Given the description of an element on the screen output the (x, y) to click on. 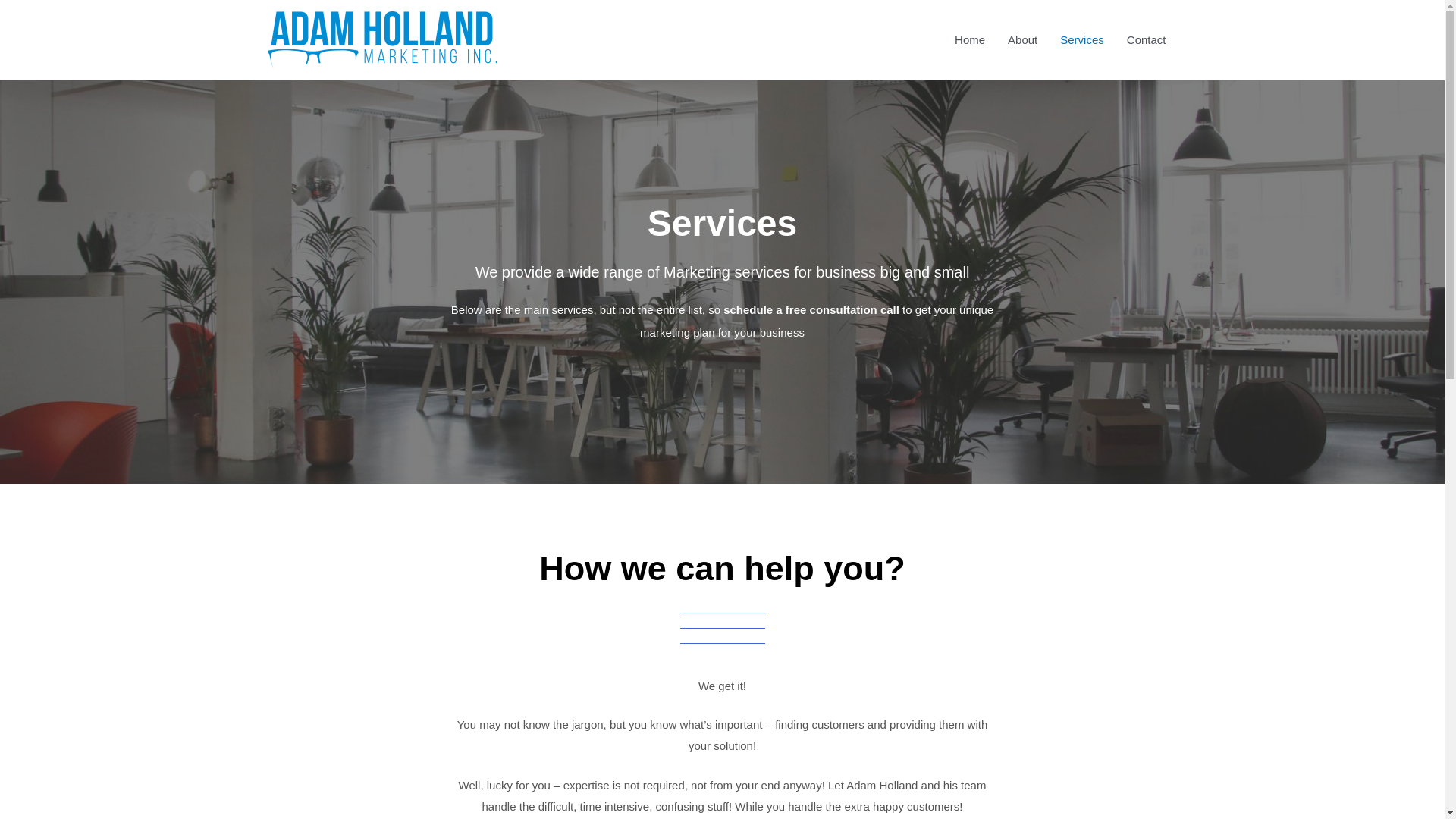
schedule a free consultation call (811, 309)
Home (969, 39)
Services (1081, 39)
About (1021, 39)
Contact (1146, 39)
